Given the description of an element on the screen output the (x, y) to click on. 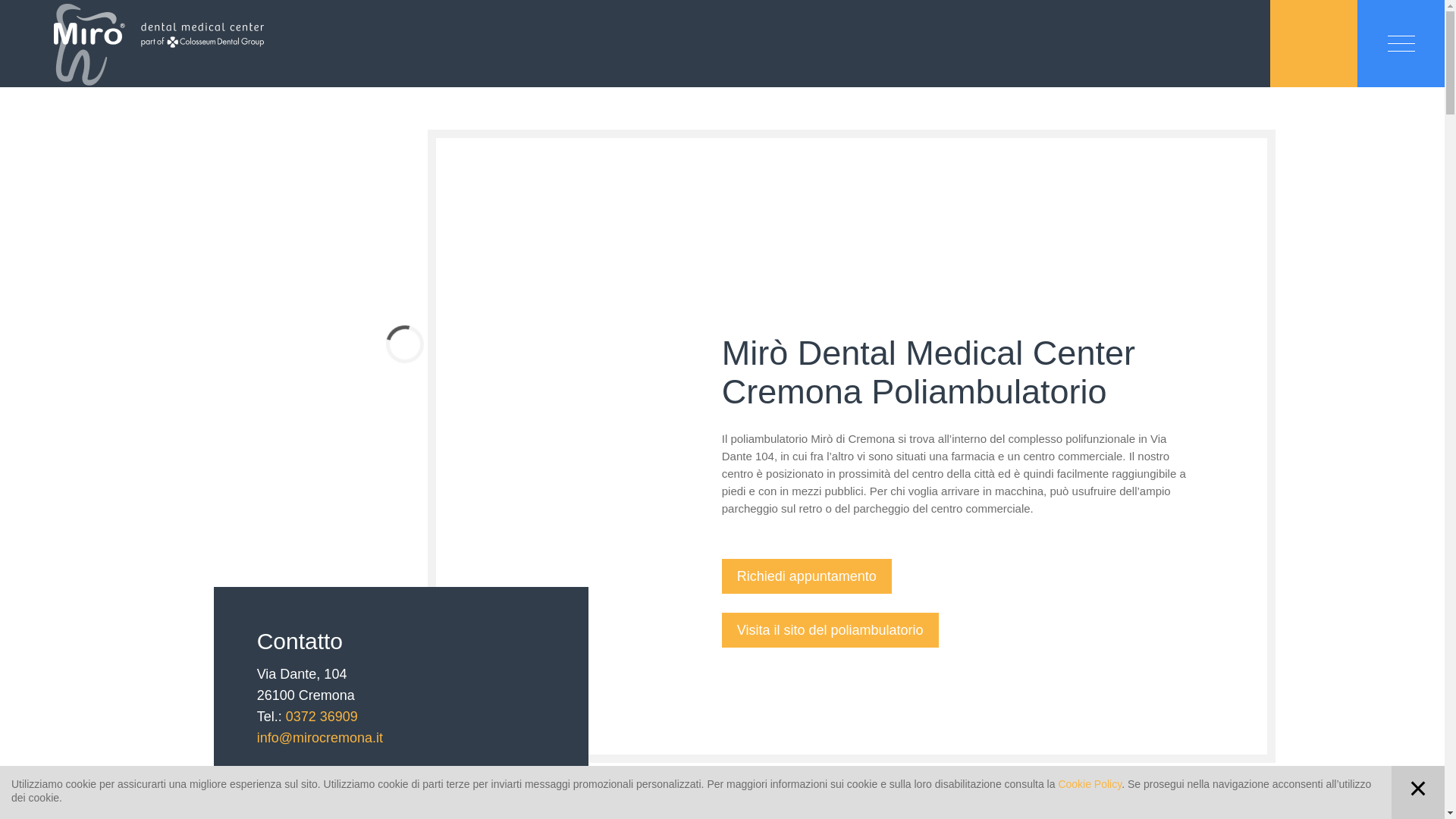
info@mirocremona.it Element type: text (319, 737)
Richiedi appuntamento Element type: text (806, 575)
Cookie Policy Element type: text (1089, 784)
Visita il sito del poliambulatorio Element type: text (829, 629)
0372 36909 Element type: text (321, 716)
